Given the description of an element on the screen output the (x, y) to click on. 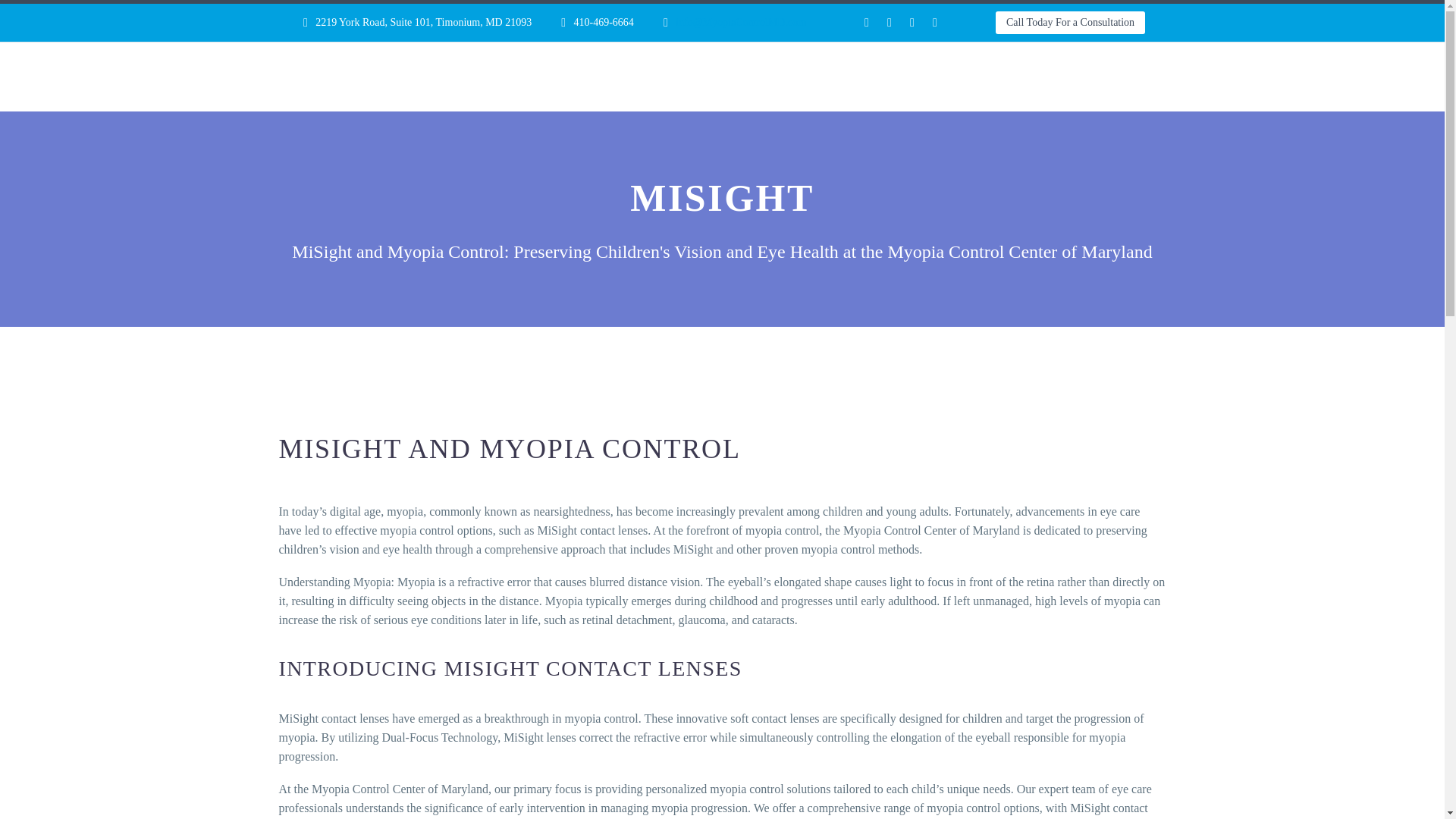
410-469-6664 (603, 21)
YouTube (934, 22)
Instagram (912, 22)
Facebook (866, 22)
Call Today For a Consultation (1069, 22)
Twitter (889, 22)
